Given the description of an element on the screen output the (x, y) to click on. 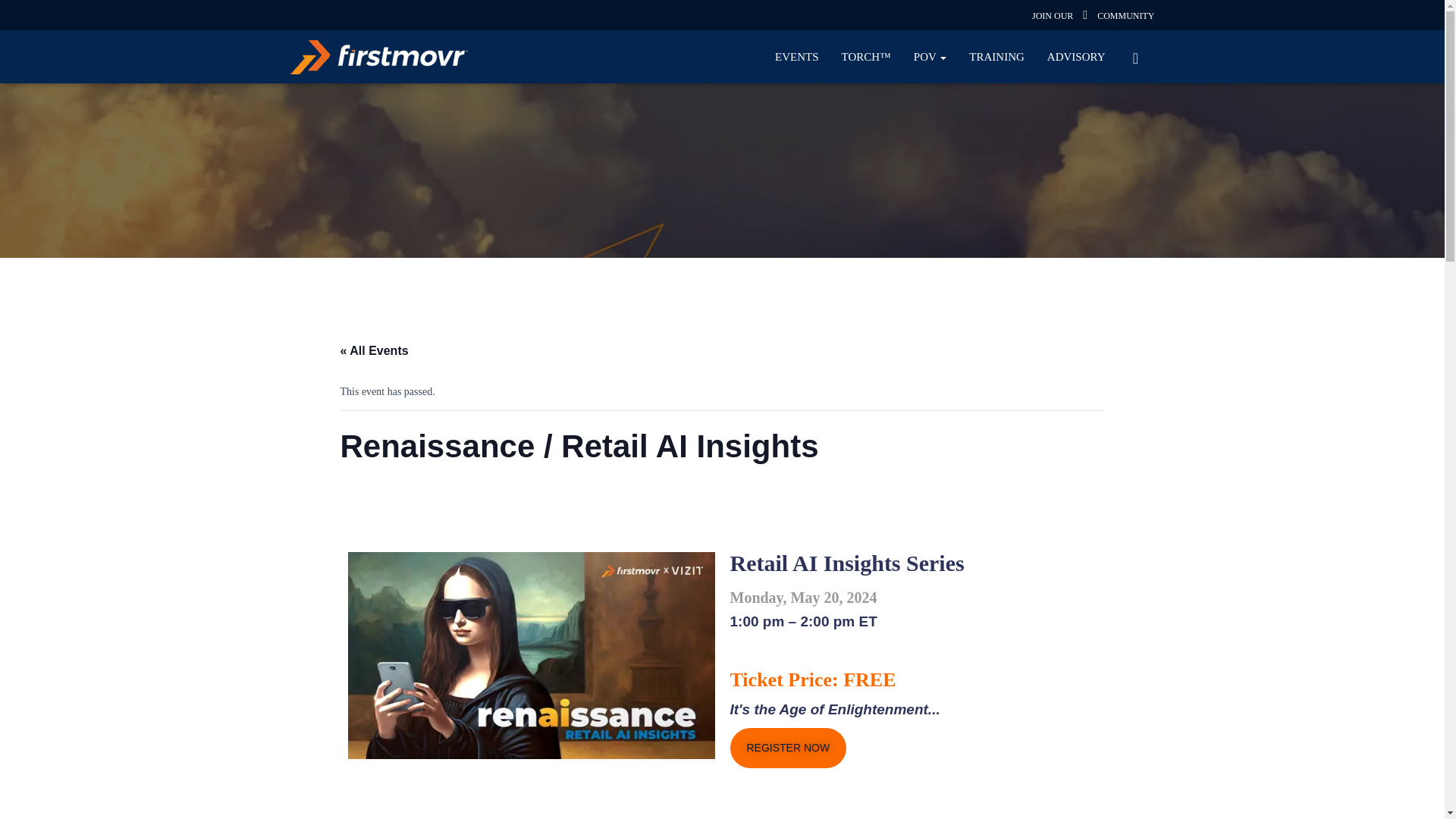
POV (930, 56)
POV (930, 56)
COMMUNITY (1125, 15)
EVENTS (795, 56)
COMMUNITY (1125, 15)
JOIN OUR (1052, 15)
Liza Grigorchuk (95, 60)
ADVISORY (1075, 56)
EVENTS (795, 56)
JOIN OUR (1052, 15)
